Given the description of an element on the screen output the (x, y) to click on. 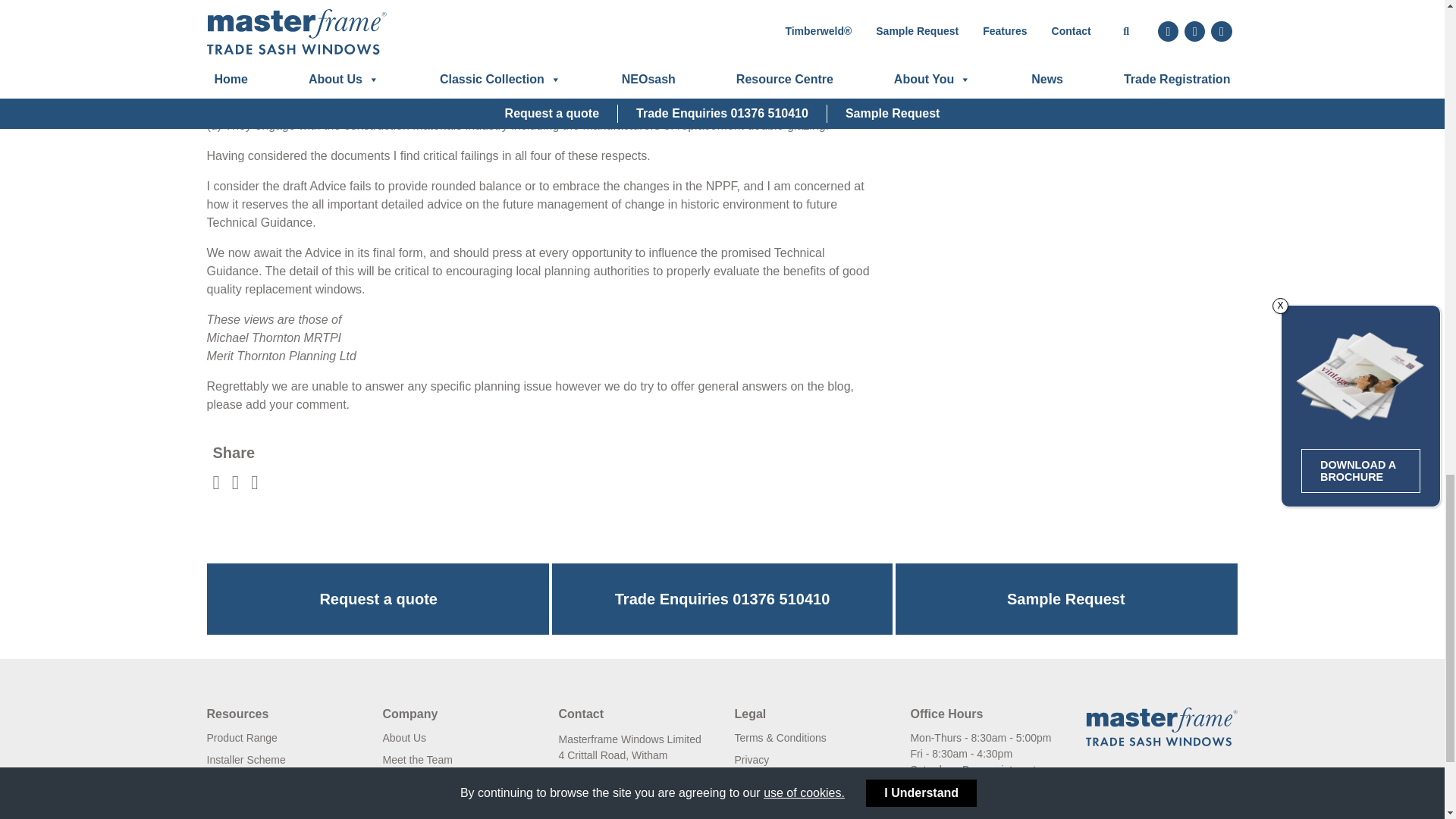
About Us (403, 737)
Meet the Team (416, 759)
FAQs (219, 803)
Product Range (241, 737)
Cookies (753, 781)
Installer Scheme (245, 759)
News (395, 781)
Privacy (750, 759)
Resource Centre (246, 781)
